Given the description of an element on the screen output the (x, y) to click on. 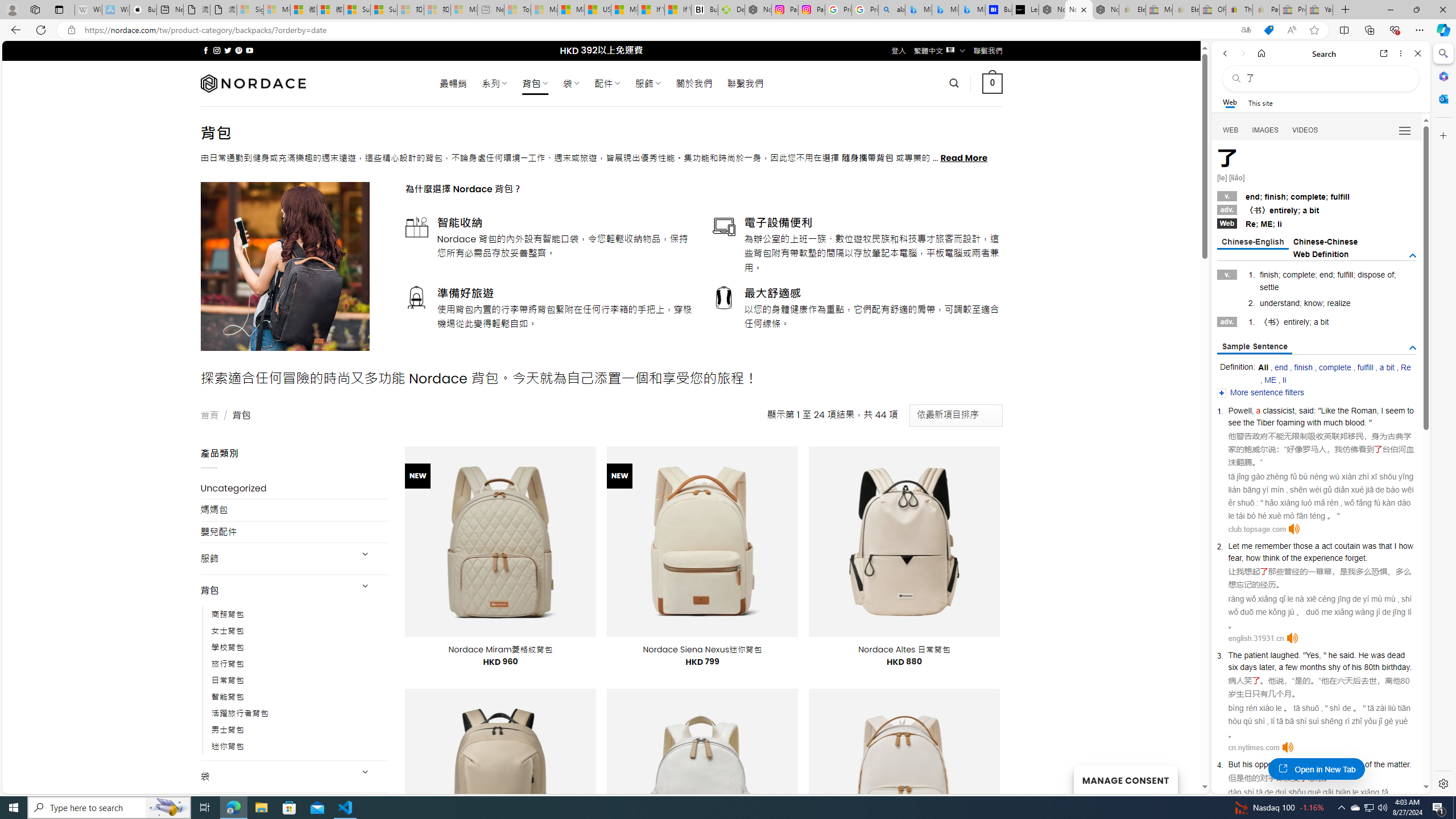
Press Room - eBay Inc. - Sleeping (1292, 9)
Chinese-English (1252, 242)
